Given the description of an element on the screen output the (x, y) to click on. 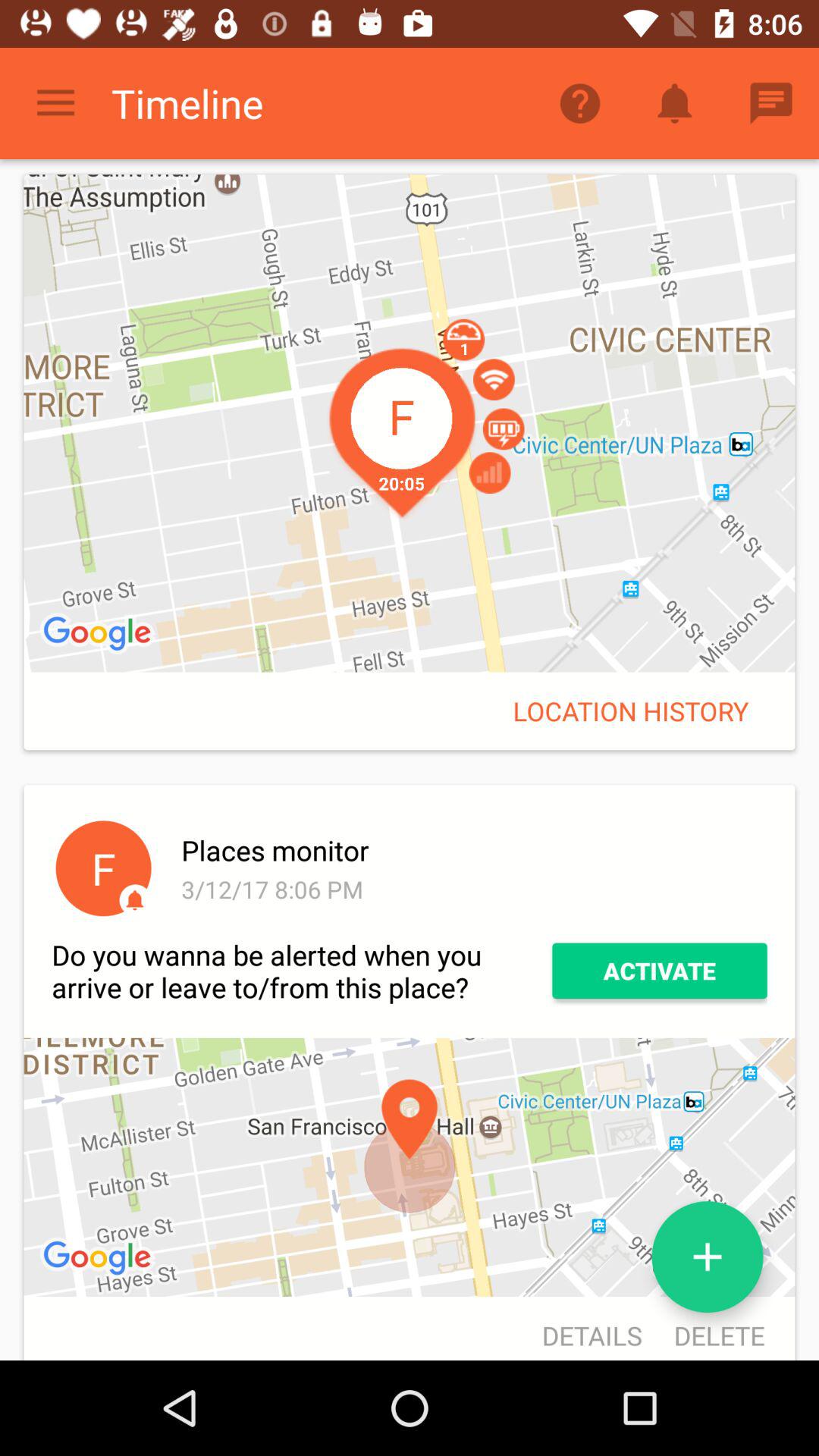
tap the icon to the right of the f icon (472, 889)
